Given the description of an element on the screen output the (x, y) to click on. 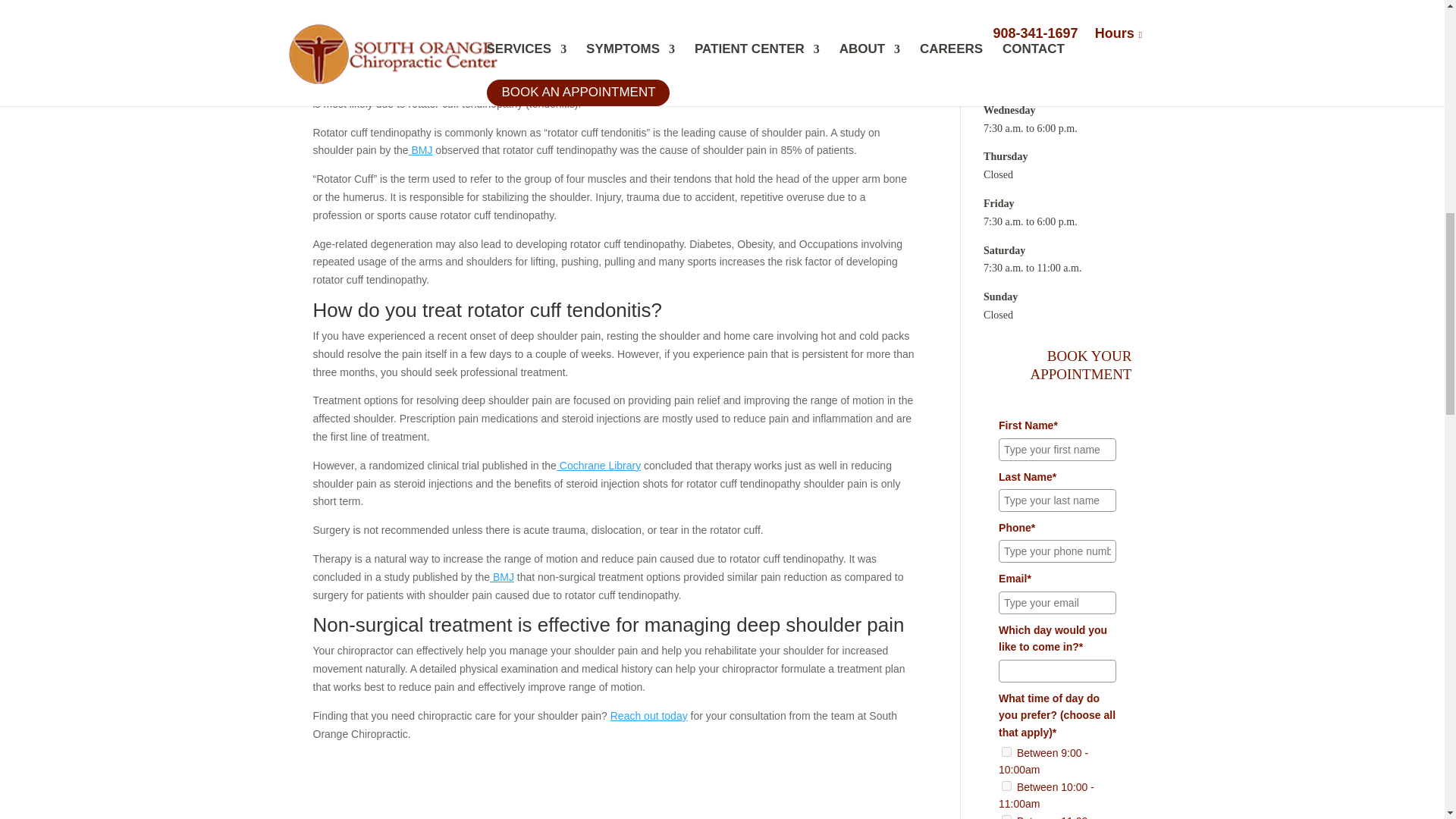
Between 10:00 - 11:00am (1006, 786)
Between 9:00 - 10:00am (1006, 751)
Between 11:00 - 12:00pm (1006, 816)
